Given the description of an element on the screen output the (x, y) to click on. 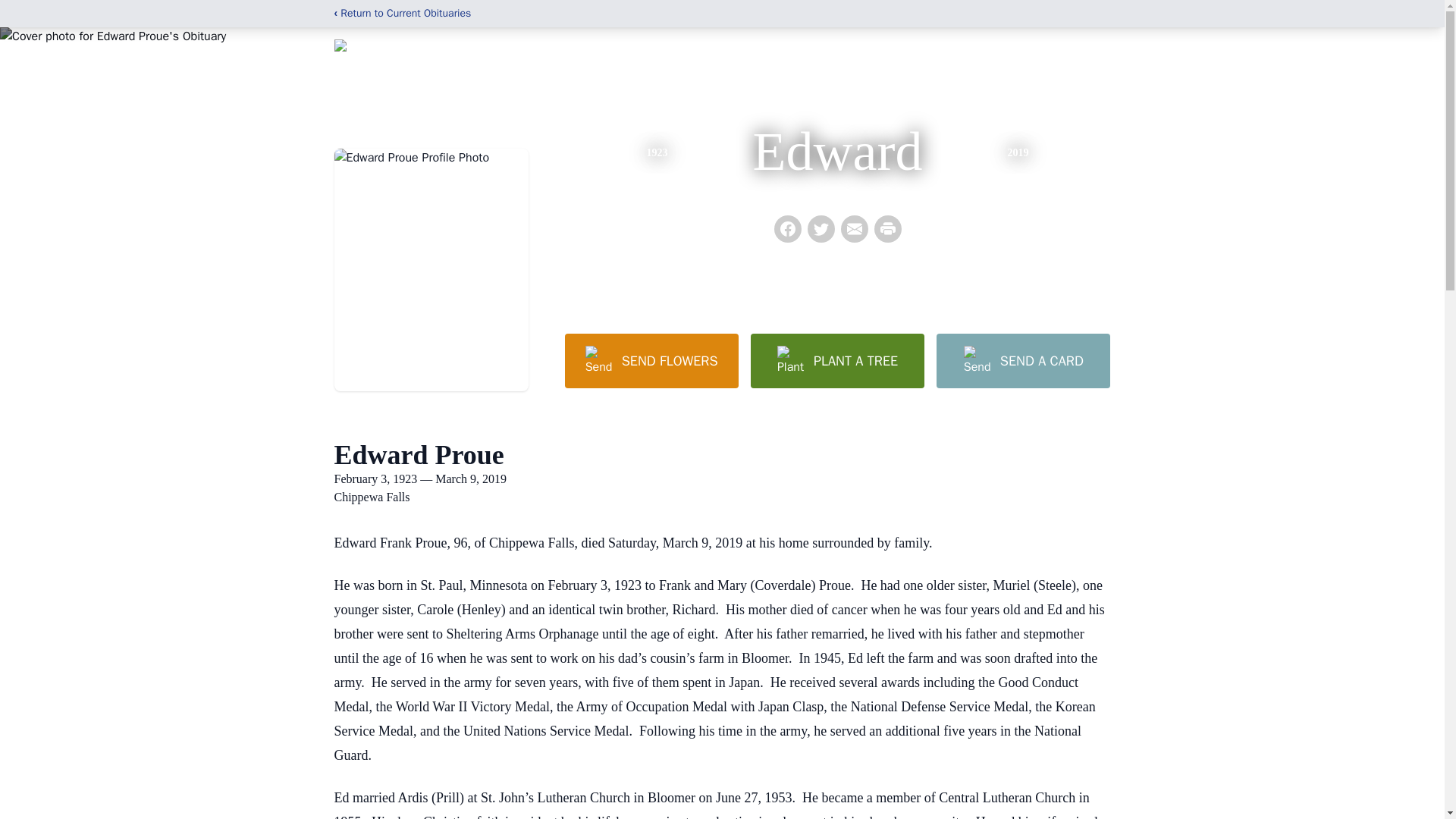
PLANT A TREE (837, 360)
SEND FLOWERS (651, 360)
SEND A CARD (1022, 360)
